Given the description of an element on the screen output the (x, y) to click on. 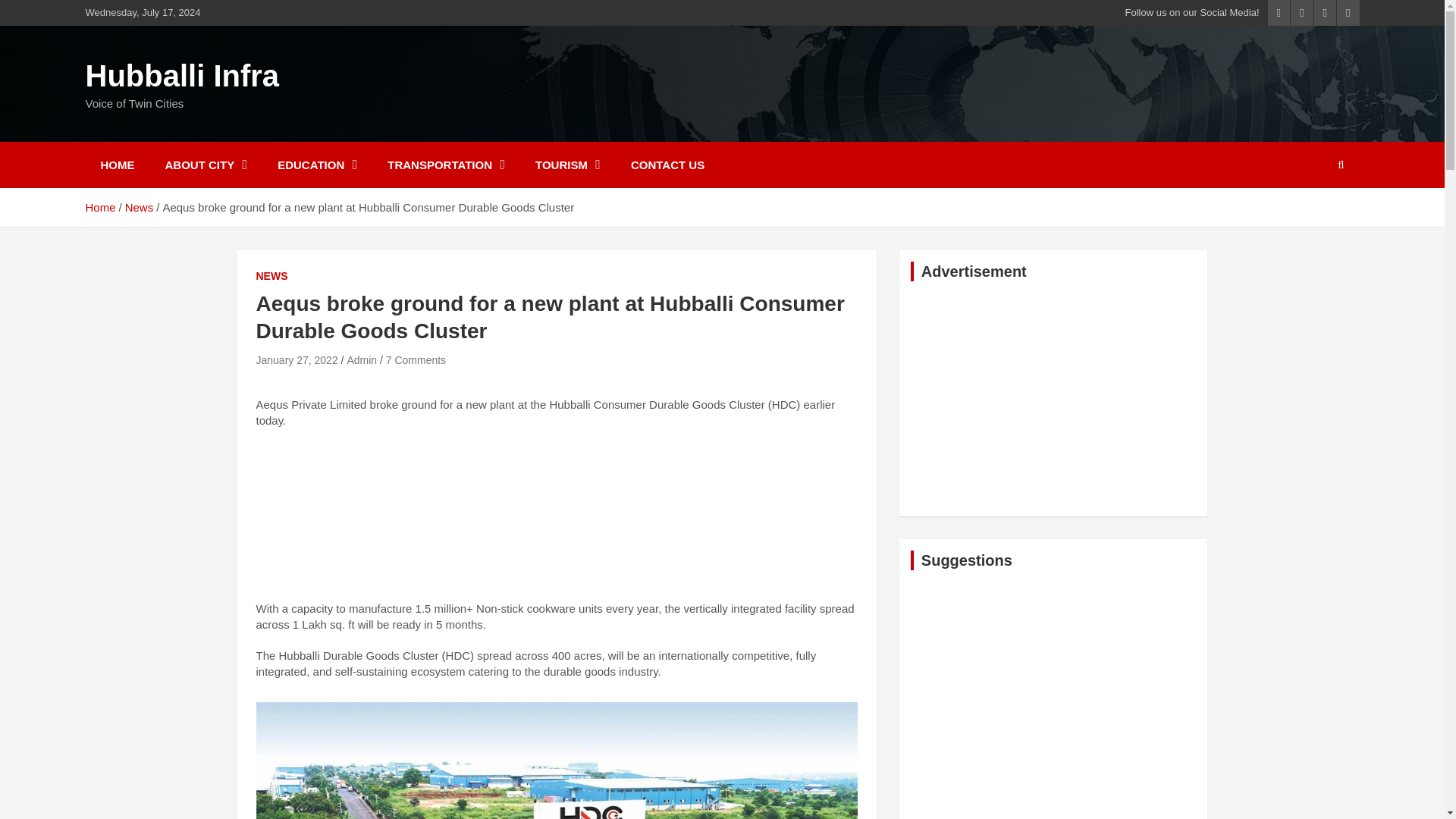
NEWS (272, 276)
EDUCATION (317, 164)
January 27, 2022 (296, 359)
Advertisement (1053, 700)
Follow us on our Social Media! (1192, 12)
ABOUT CITY (206, 164)
CONTACT US (667, 164)
7 Comments (415, 359)
Advertisement (556, 518)
Home (99, 206)
TOURISM (567, 164)
Hubballi Infra (181, 75)
Admin (361, 359)
HOME (116, 164)
